Given the description of an element on the screen output the (x, y) to click on. 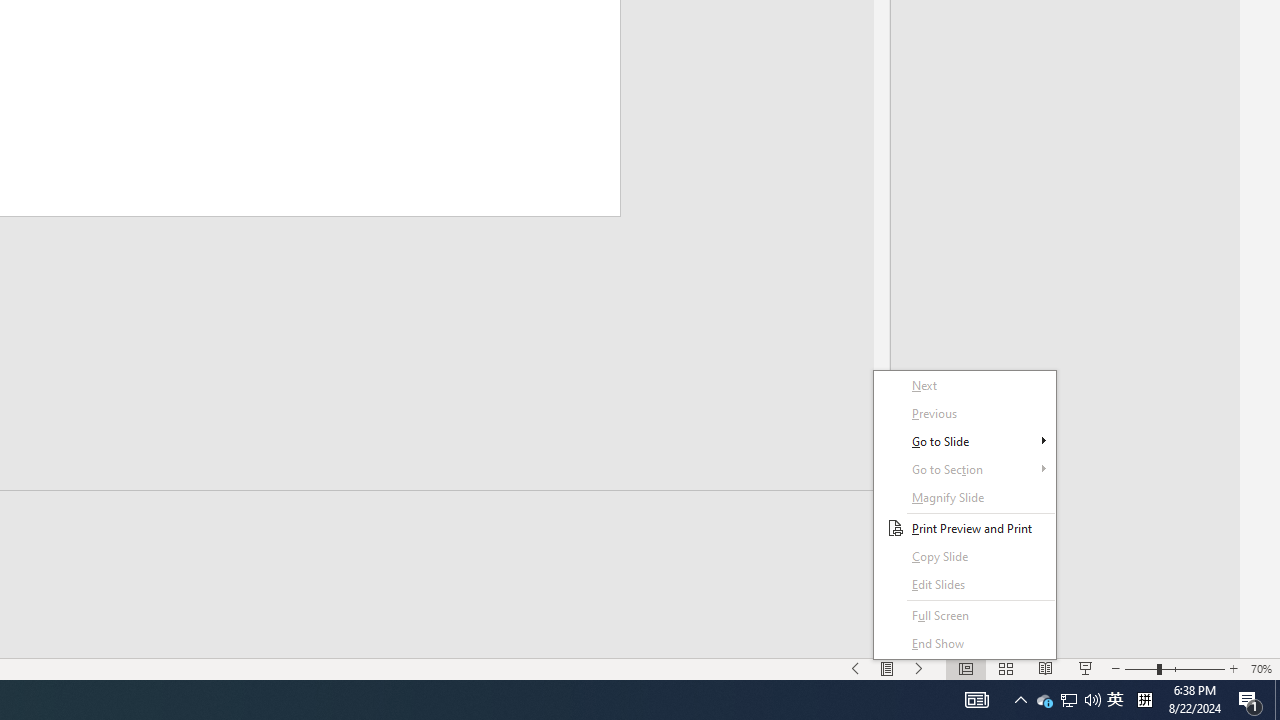
Slide Show Previous On (855, 668)
Zoom 70% (1261, 668)
Context Menu (964, 515)
Previous (964, 413)
End Show (1044, 699)
Edit Slides (964, 644)
Copy Slide (964, 584)
Full Screen (964, 556)
Go to Slide (964, 615)
